Given the description of an element on the screen output the (x, y) to click on. 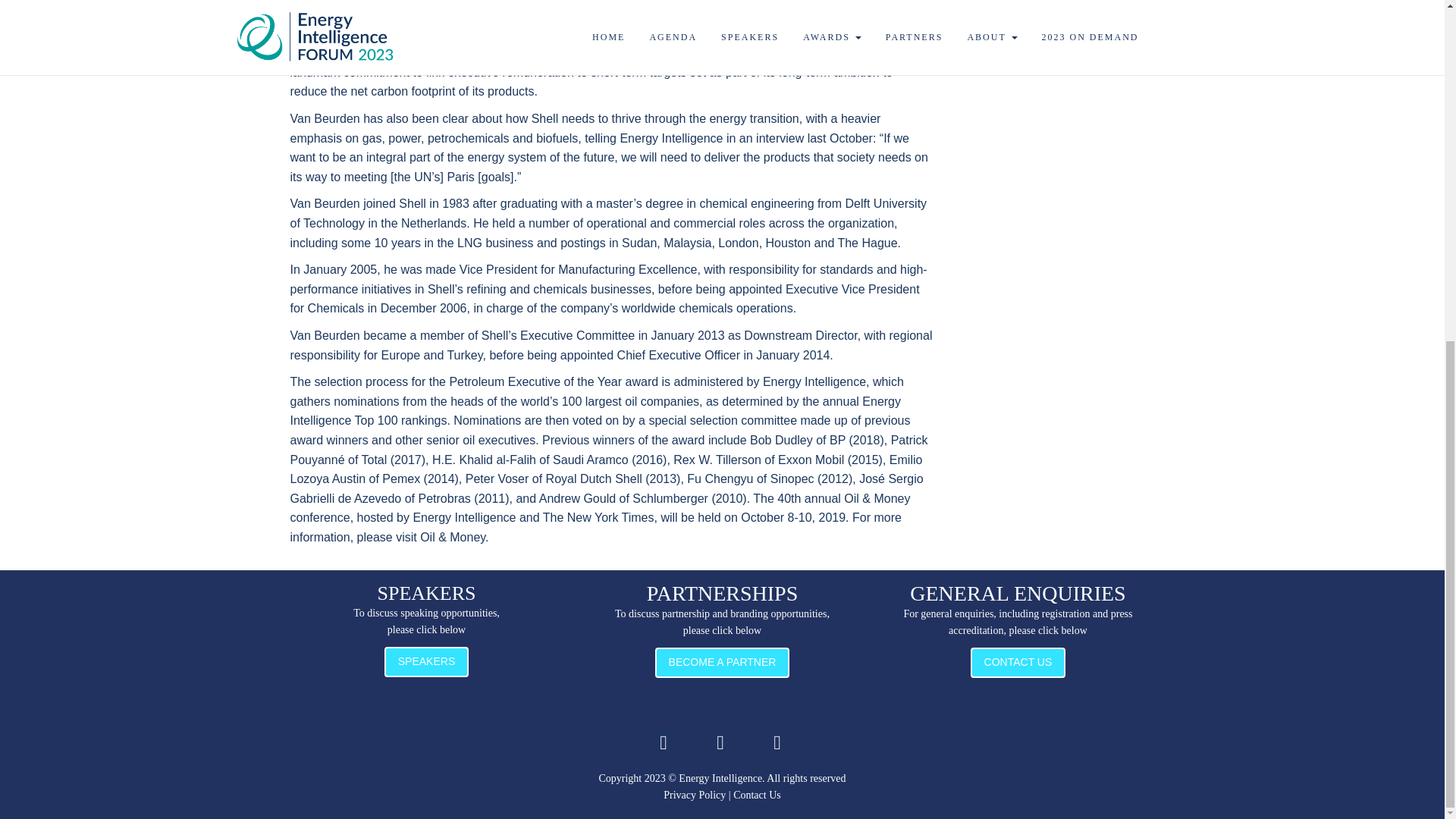
Contact Us (756, 794)
Privacy Policy (694, 794)
SPEAKERS (426, 662)
CONTACT US (1018, 662)
BECOME A PARTNER (722, 662)
